Given the description of an element on the screen output the (x, y) to click on. 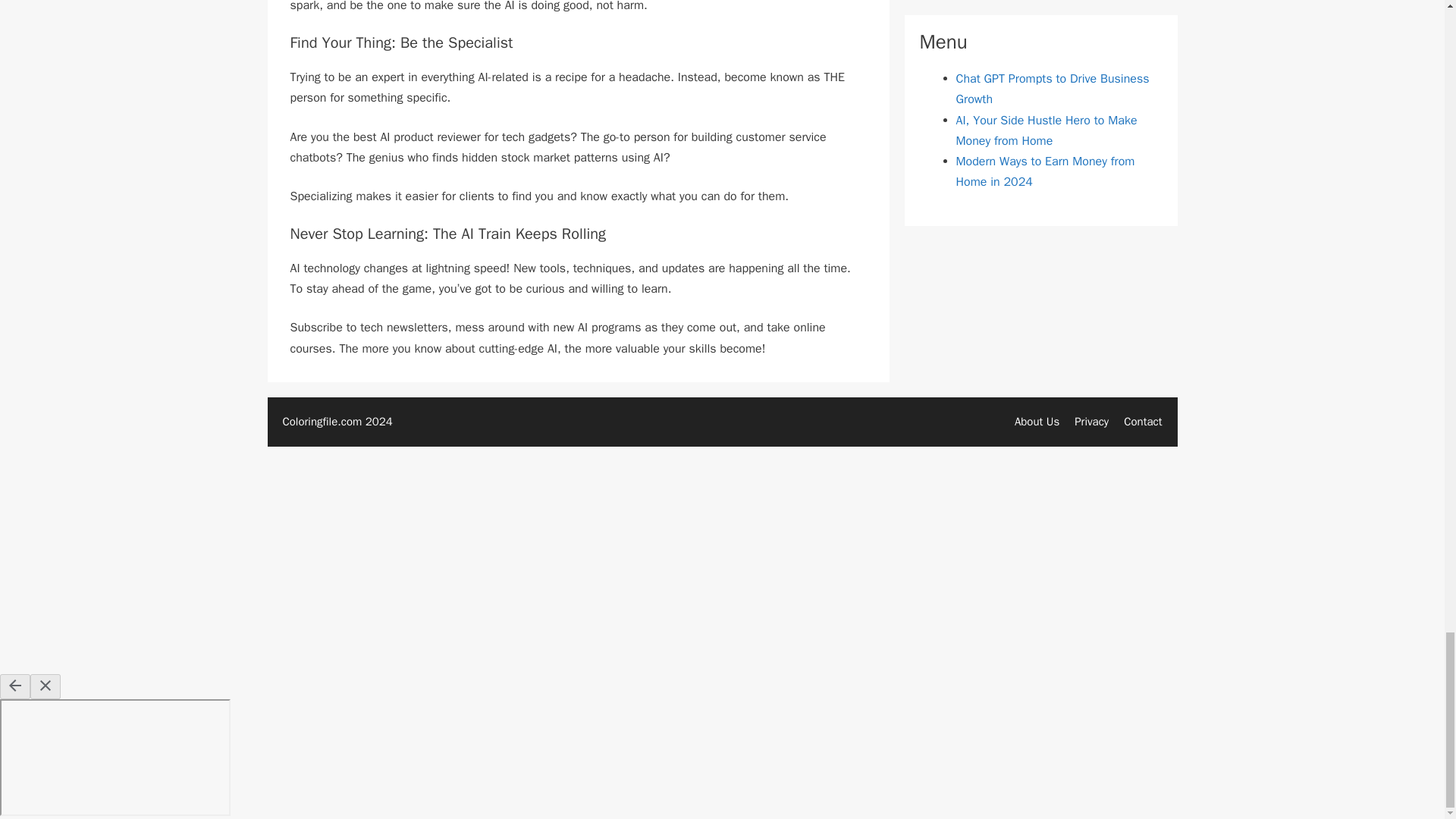
Contact (1142, 421)
Privacy (1091, 421)
About Us (1036, 421)
